Given the description of an element on the screen output the (x, y) to click on. 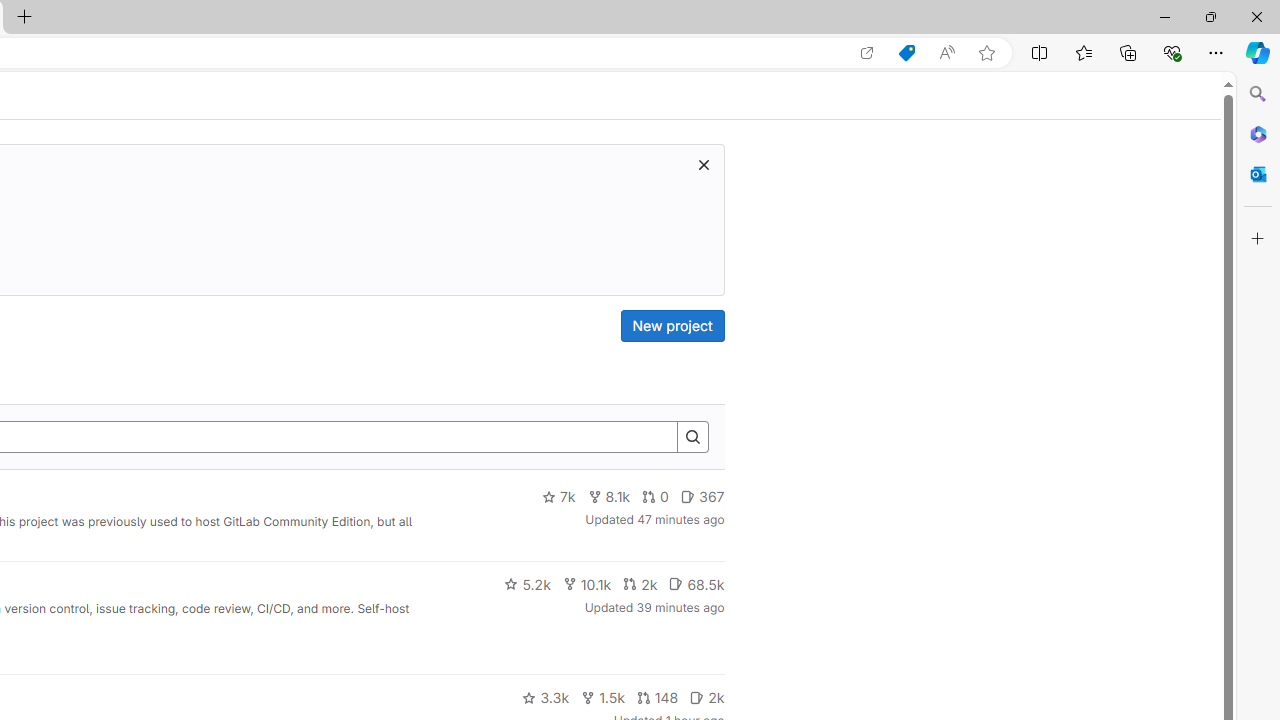
68.5k (696, 583)
5.2k (527, 583)
2k (706, 697)
1.5k (602, 697)
148 (657, 697)
Class: s16 gl-icon gl-button-icon  (703, 164)
Dismiss trial promotion (703, 164)
367 (701, 497)
